Given the description of an element on the screen output the (x, y) to click on. 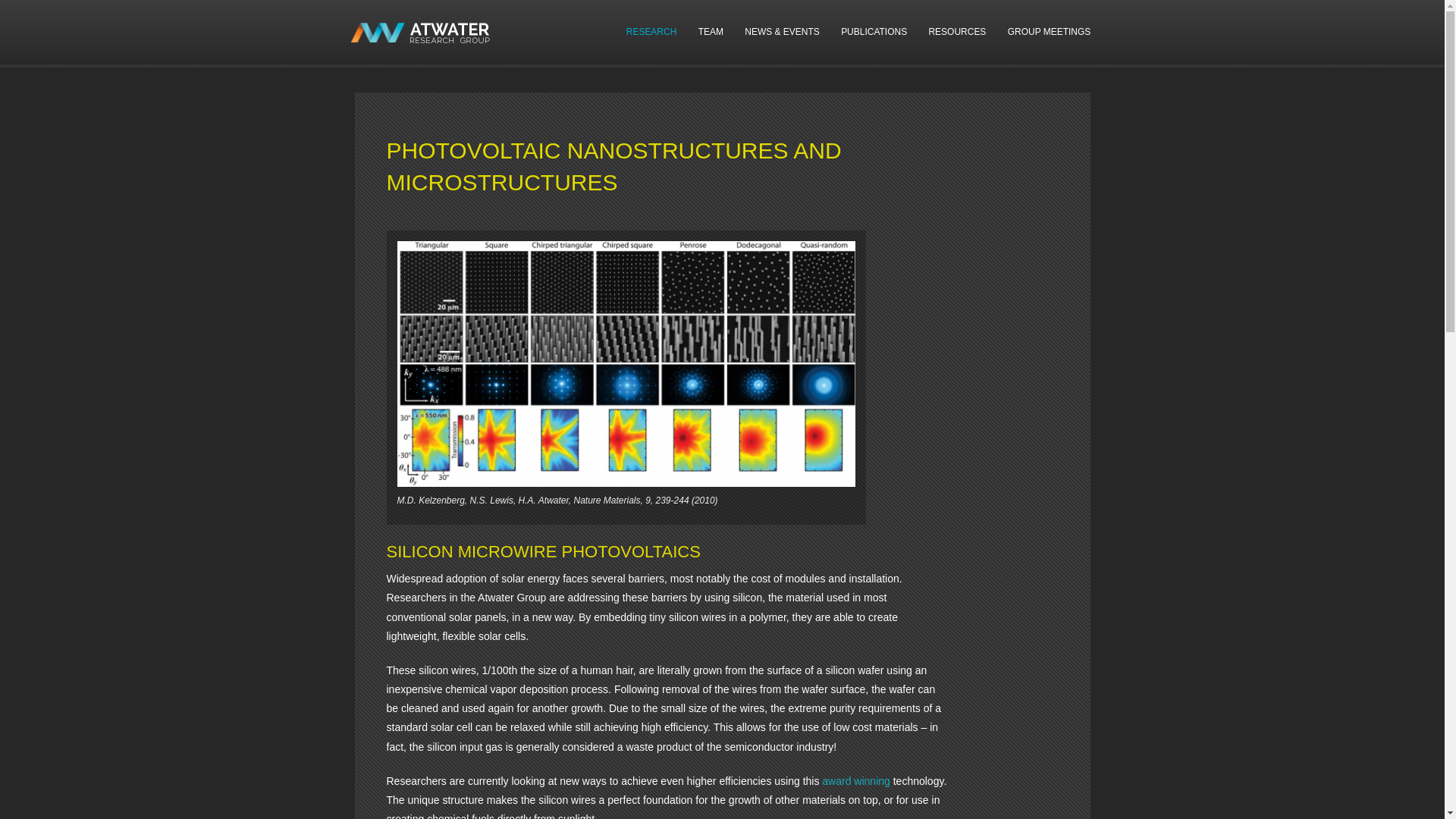
RESEARCH (651, 32)
RESOURCES (956, 32)
GROUP MEETINGS (1049, 32)
PUBLICATIONS (873, 32)
ATWATER (419, 32)
